Given the description of an element on the screen output the (x, y) to click on. 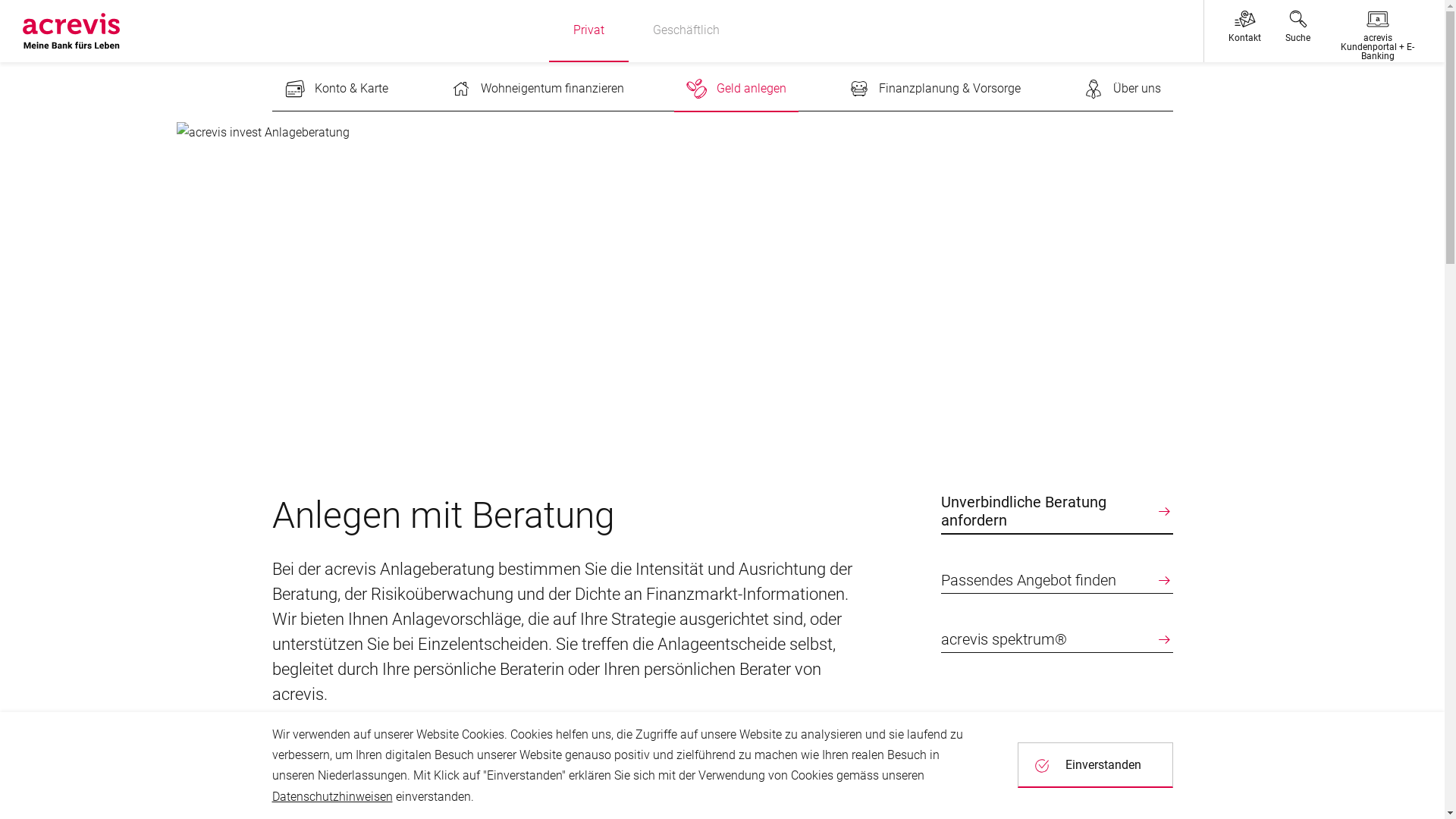
Finanzplanung & Vorsorge Element type: text (933, 88)
Wohneigentum finanzieren Element type: text (537, 88)
Suche Element type: text (1297, 31)
Kontakt Element type: text (1244, 31)
Einverstanden Element type: text (1095, 764)
Geld anlegen Element type: text (735, 88)
acrevis Kundenportal + E-Banking Element type: text (1377, 31)
Unverbindliche Beratung anfordern Element type: text (1056, 513)
Passendes Angebot finden Element type: text (1056, 582)
Privat Element type: text (588, 31)
Datenschutzhinweisen Element type: text (331, 796)
Konto & Karte Element type: text (335, 88)
